Given the description of an element on the screen output the (x, y) to click on. 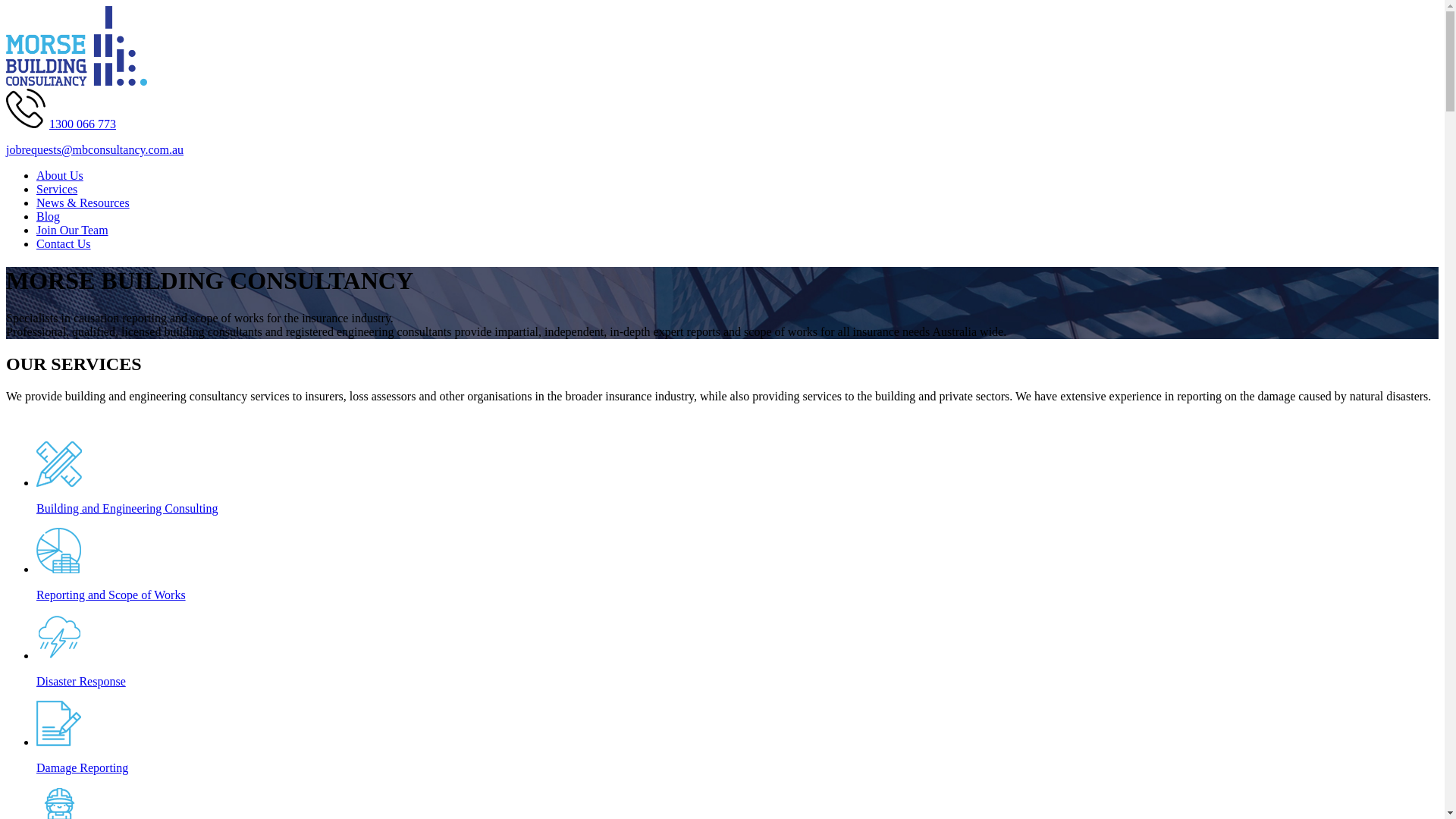
jobrequests@mbconsultancy.com.au Element type: text (94, 149)
Contact Us Element type: text (63, 243)
Join Our Team Element type: text (72, 229)
News & Resources Element type: text (82, 202)
Disaster Response Element type: text (737, 668)
Building and Engineering Consulting Element type: text (737, 495)
Damage Reporting Element type: text (737, 755)
About Us Element type: text (59, 175)
Morse Building Consultancy Logo Element type: hover (76, 45)
1300 066 773 Element type: text (82, 123)
Reporting and Scope of Works Element type: text (737, 582)
Blog Element type: text (47, 216)
Services Element type: text (56, 188)
